Given the description of an element on the screen output the (x, y) to click on. 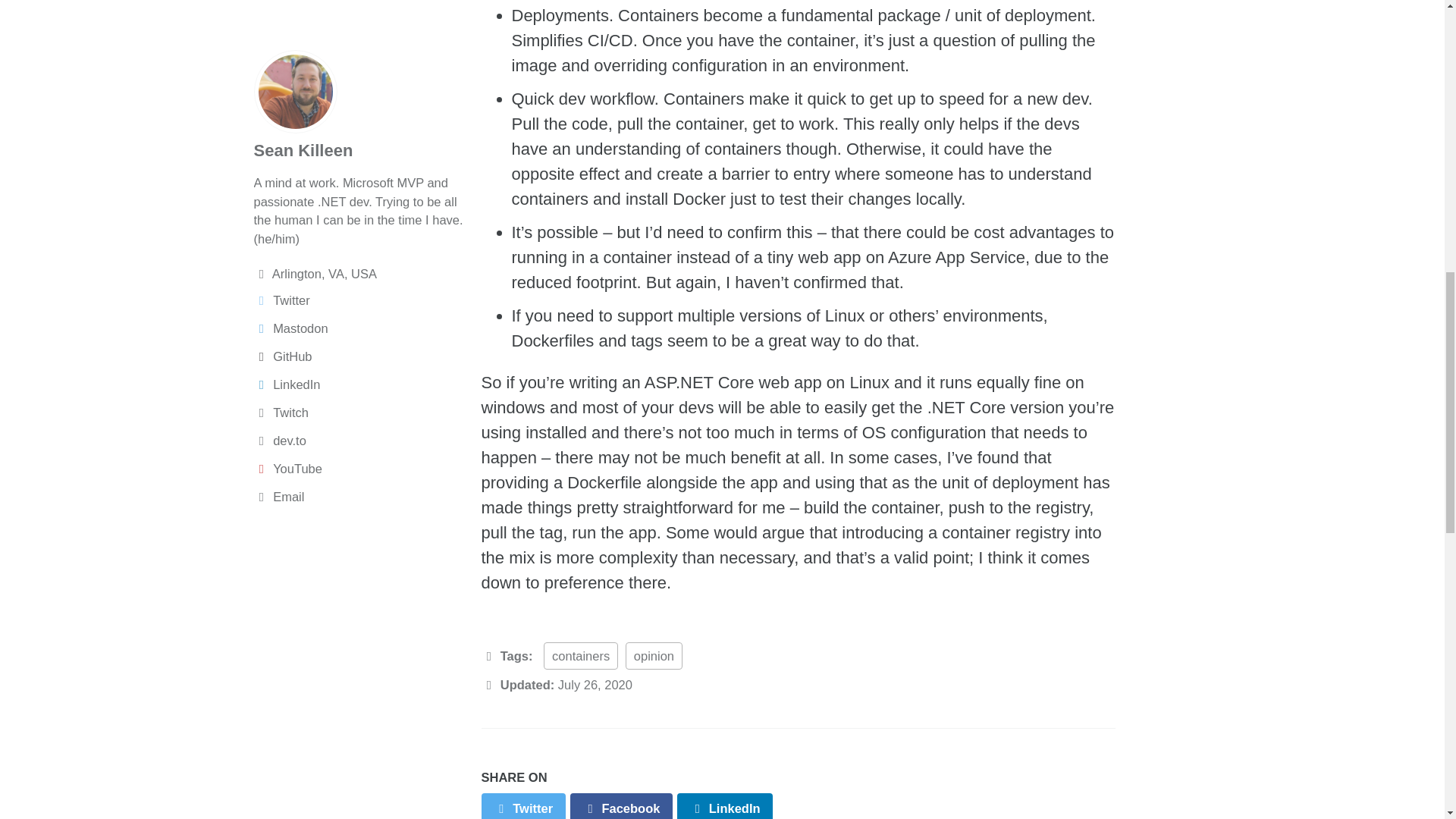
opinion (654, 656)
Share on Twitter (522, 806)
LinkedIn (725, 806)
Share on Facebook (621, 806)
Twitter (522, 806)
Share on LinkedIn (725, 806)
Facebook (621, 806)
containers (580, 656)
